Given the description of an element on the screen output the (x, y) to click on. 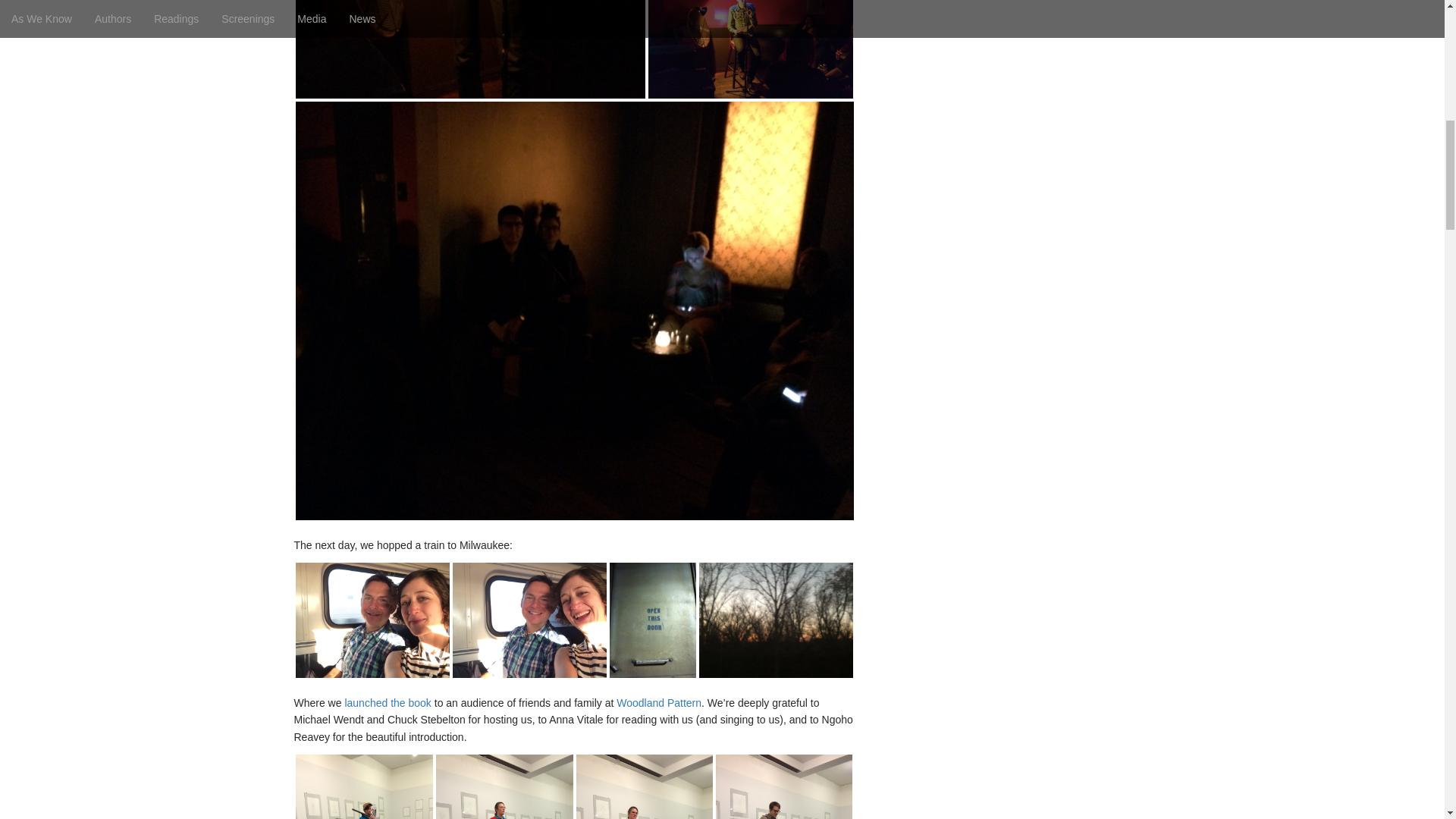
Joel Craig (749, 49)
Training (372, 620)
Woodland Pattern (658, 702)
Joel Craig (470, 49)
Still training (528, 620)
launched the book (386, 702)
Landscape (775, 620)
Woodland Pattern (363, 786)
